Given the description of an element on the screen output the (x, y) to click on. 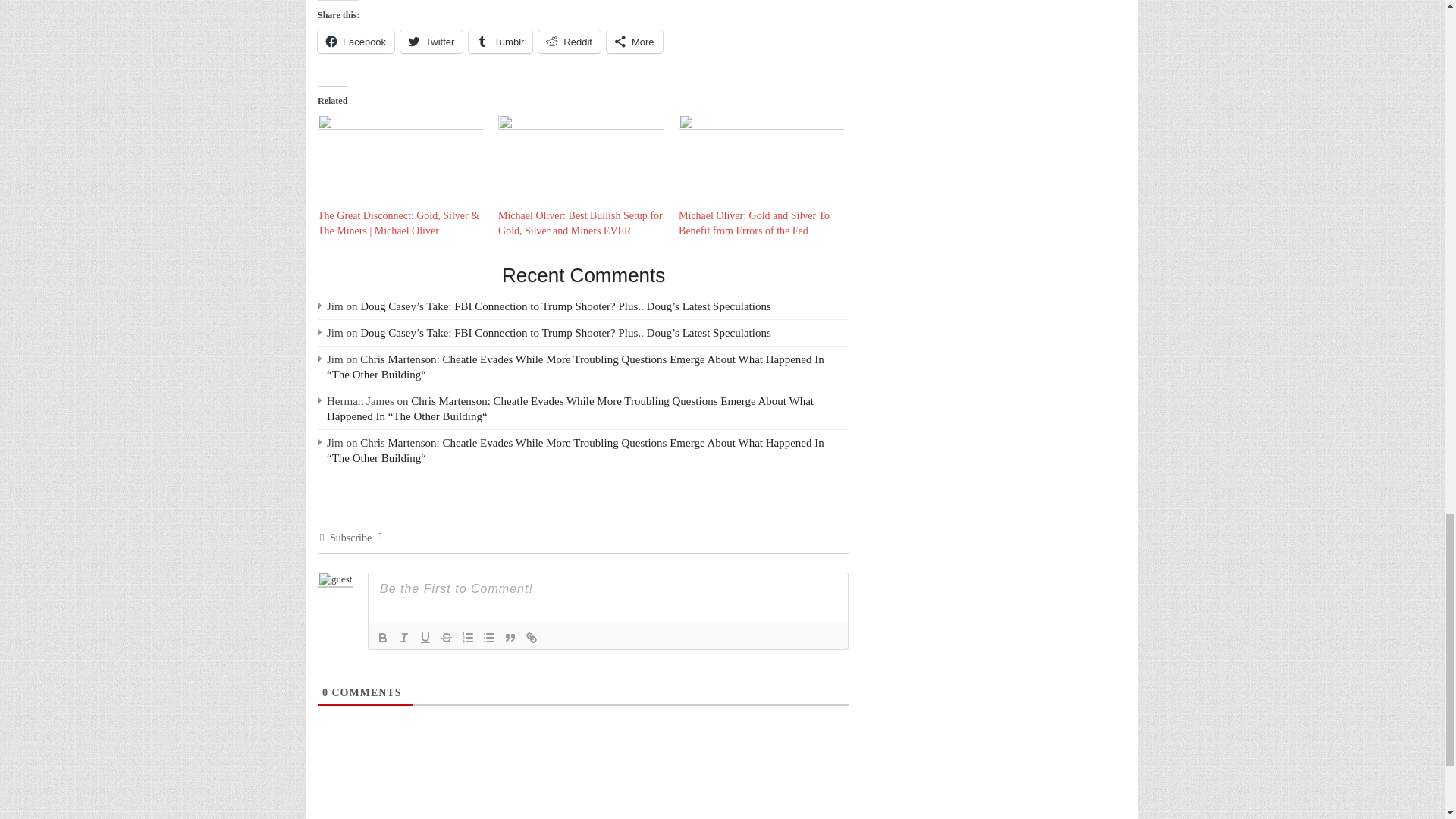
Click to share on Tumblr (500, 41)
Click to share on Twitter (431, 41)
Click to share on Facebook (355, 41)
